Given the description of an element on the screen output the (x, y) to click on. 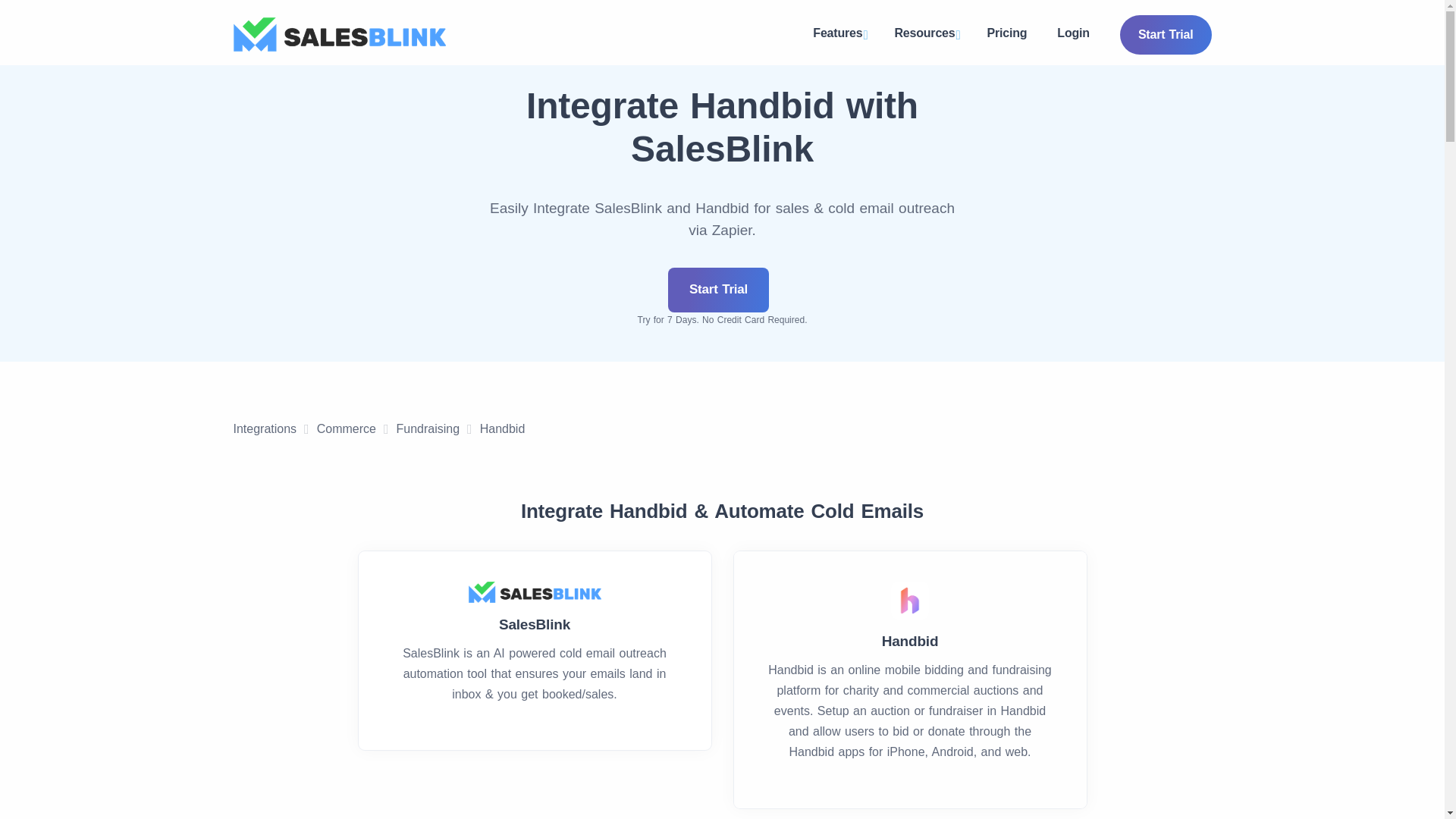
Start Trial (718, 289)
Handbid Logo (909, 600)
SalesBlink Logo (534, 591)
Features (838, 34)
Resources (925, 34)
Start Trial (1165, 34)
Commerce (346, 429)
SalesBlink Logo (338, 34)
Fundraising (428, 429)
Integrations (264, 429)
